Given the description of an element on the screen output the (x, y) to click on. 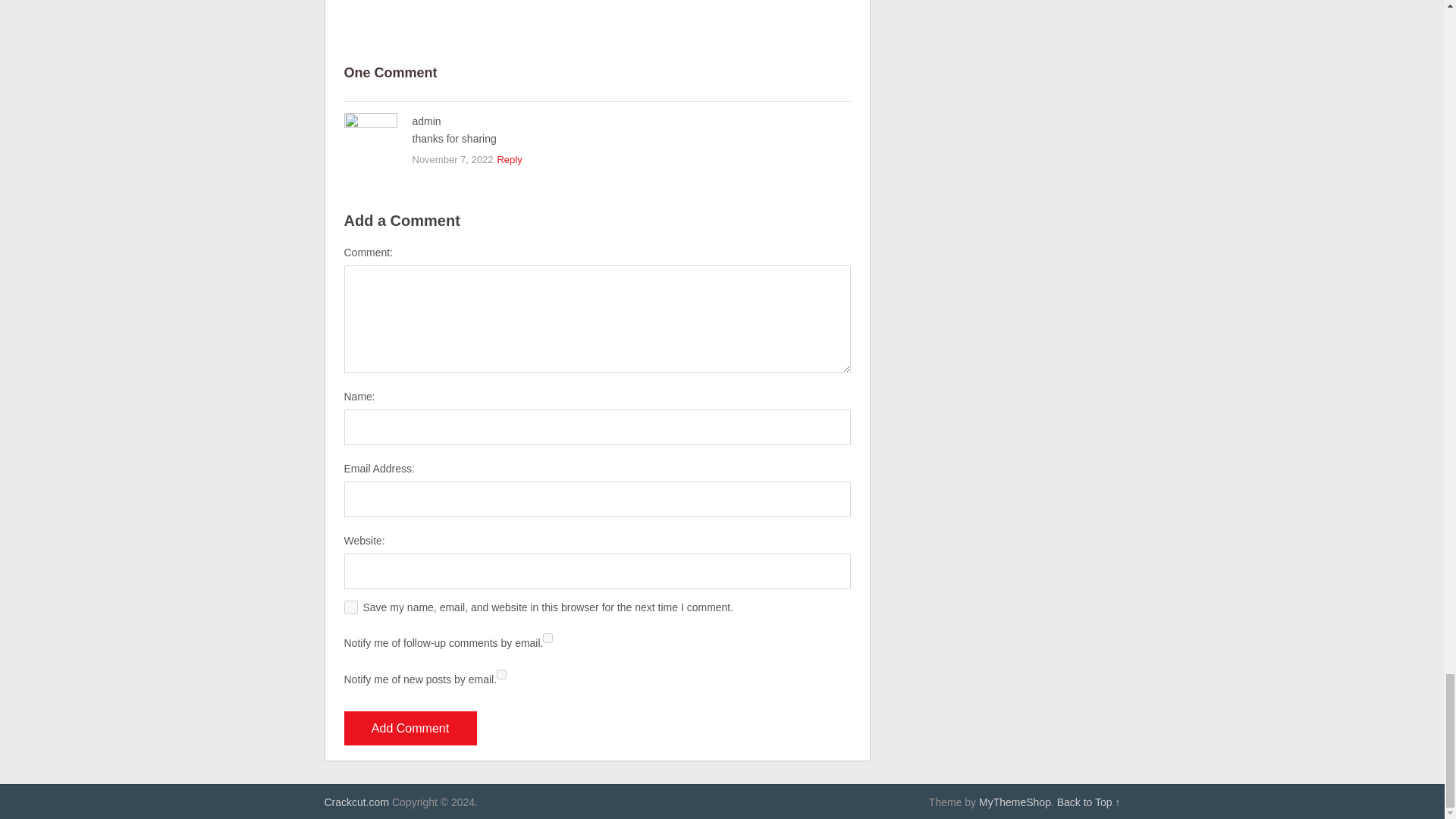
subscribe (501, 674)
Add Comment (410, 728)
subscribe (548, 637)
yes (350, 607)
